Given the description of an element on the screen output the (x, y) to click on. 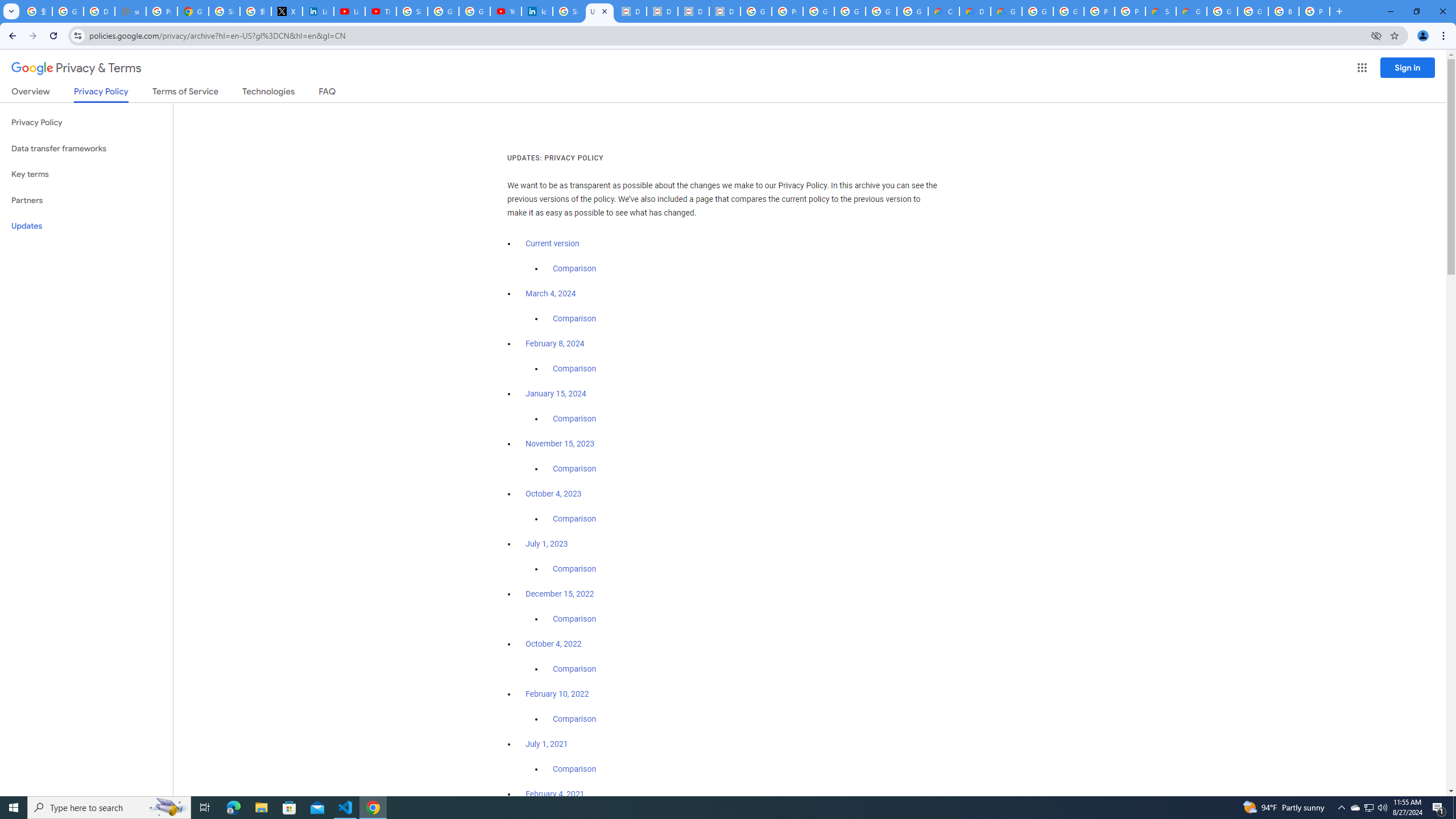
July 1, 2021 (546, 743)
October 4, 2023 (553, 493)
Google Workspace - Specific Terms (912, 11)
Privacy Policy (86, 122)
July 1, 2023 (546, 543)
Data Privacy Framework (693, 11)
